Given the description of an element on the screen output the (x, y) to click on. 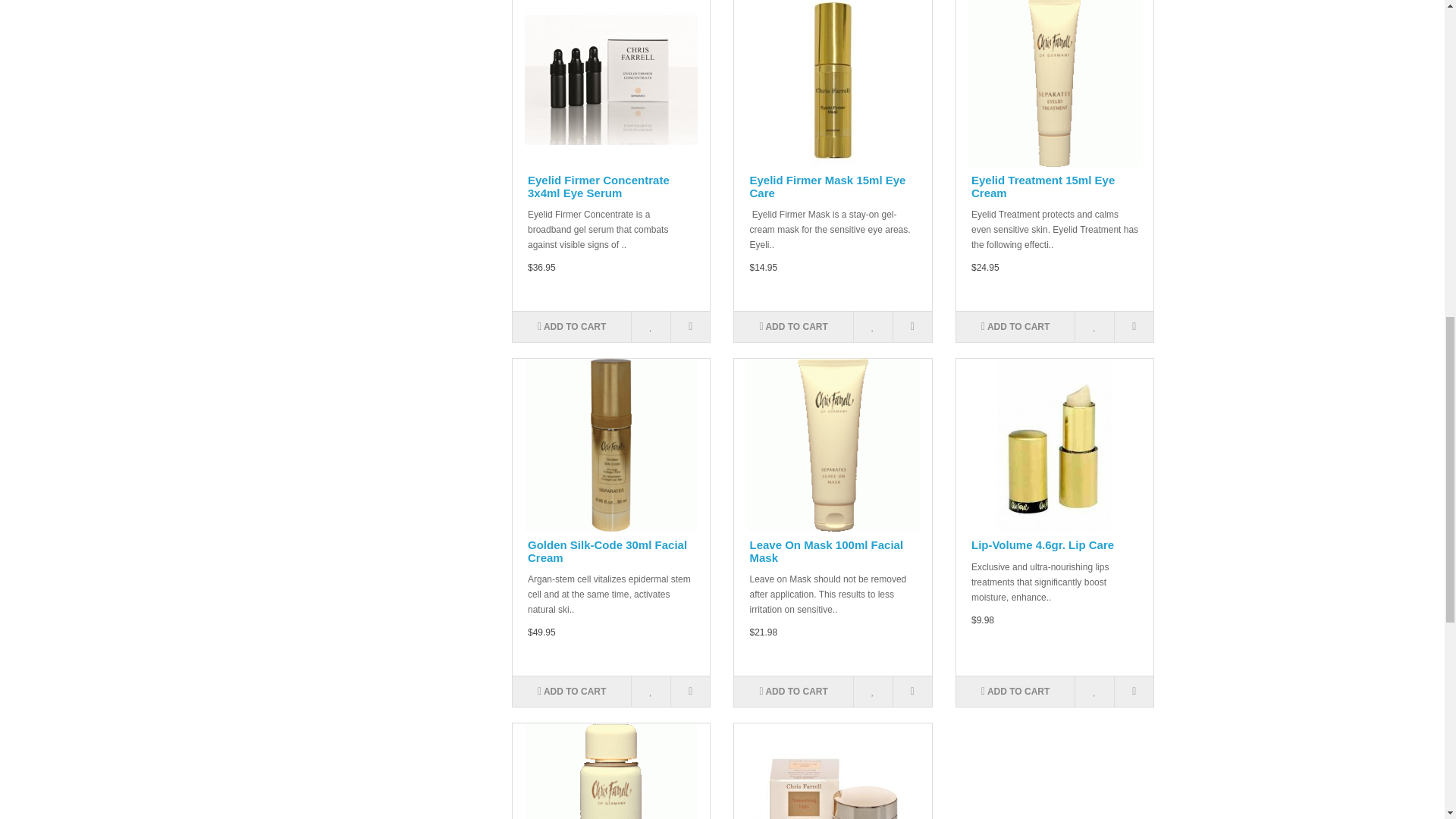
Eyelid Firmer Mask 15ml Eye Care  (833, 83)
Golden Silk-Code 30ml Facial Cream  (610, 444)
Eyelid Firmer Concentrate 3x4ml Eye Serum (610, 83)
Eyelid Treatment 15ml Eye Cream (1054, 83)
